Given the description of an element on the screen output the (x, y) to click on. 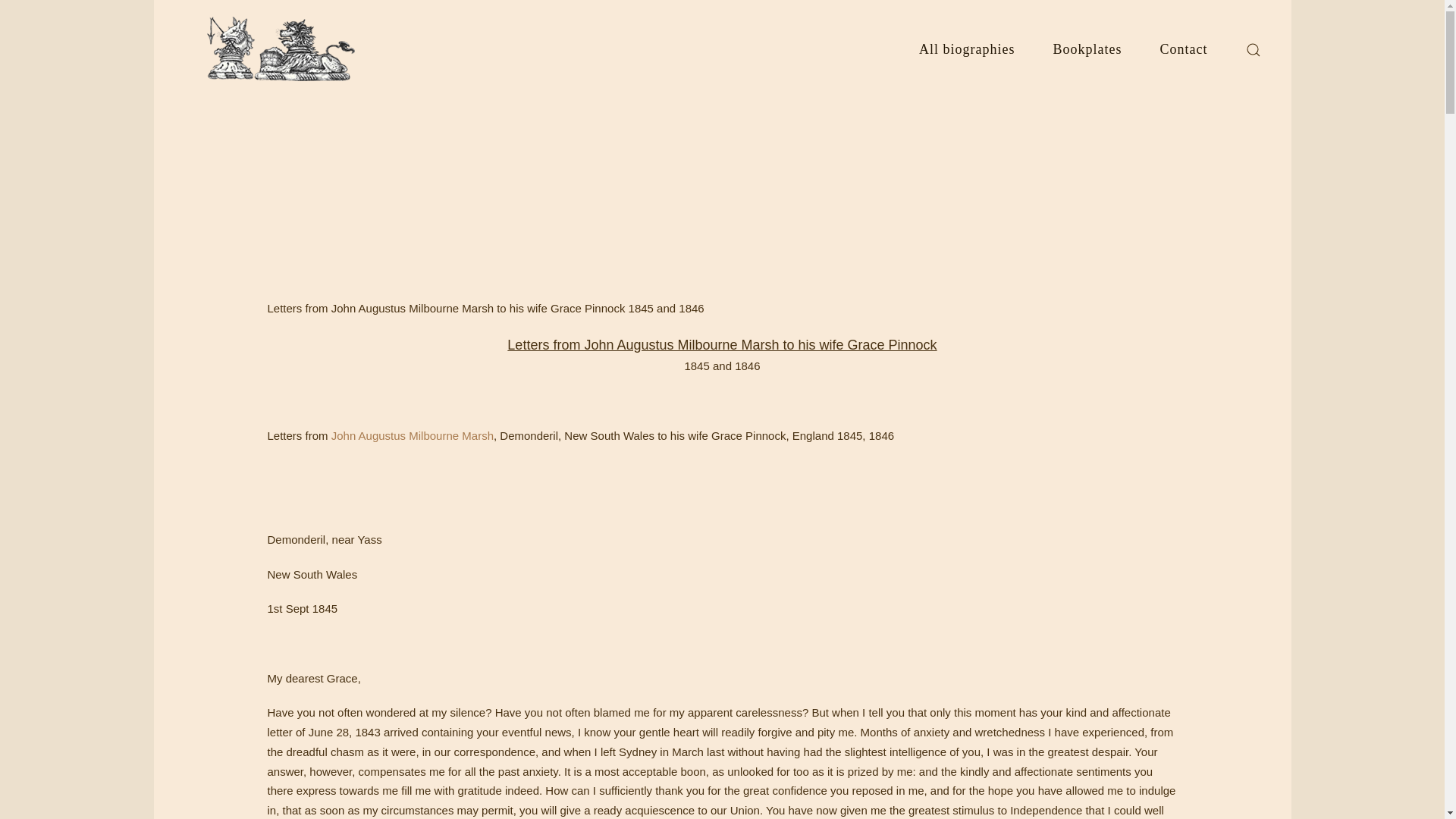
John Augustus Milbourne Marsh (412, 435)
All biographies (966, 49)
Bookplates (1086, 49)
